Given the description of an element on the screen output the (x, y) to click on. 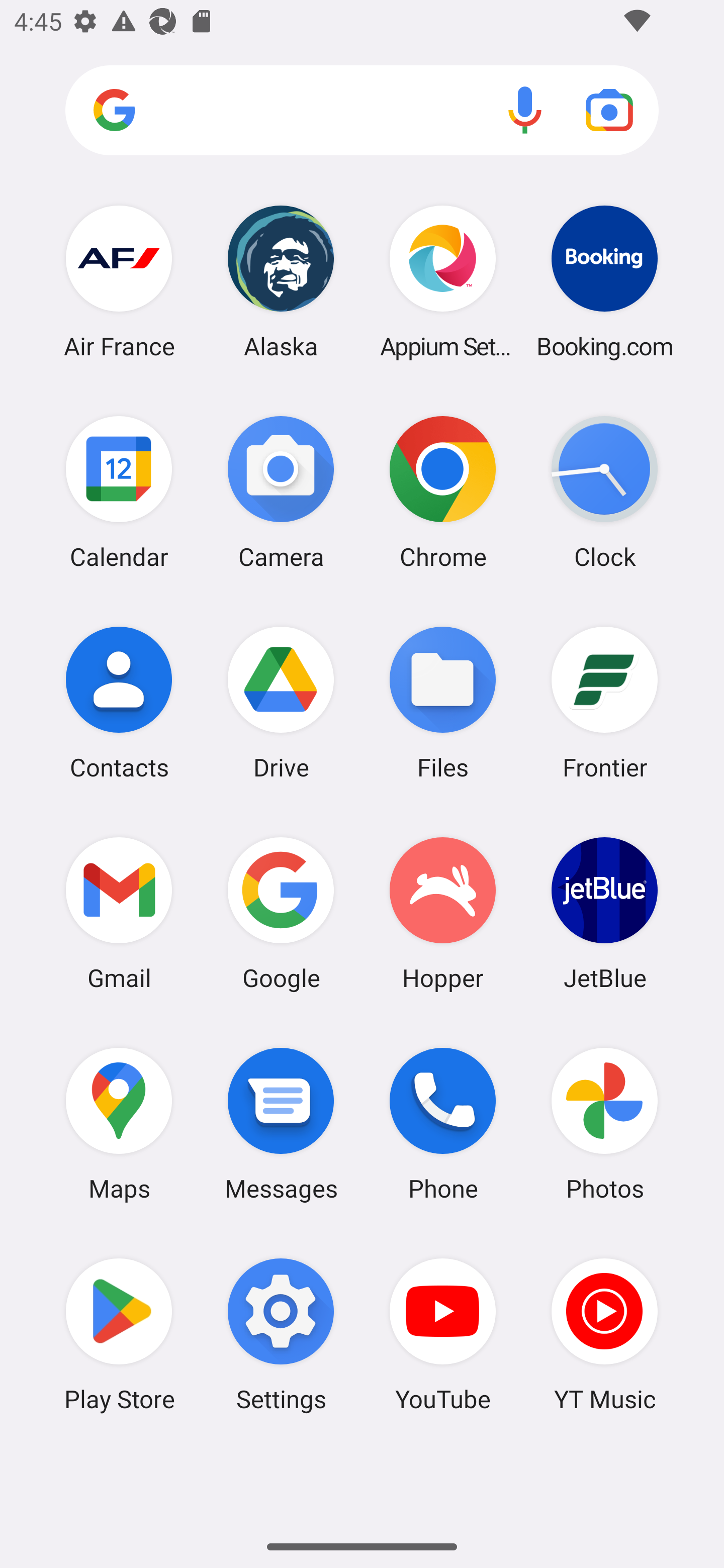
Voice search (524, 109)
Google Lens (608, 109)
Air France (118, 281)
Alaska (280, 281)
Appium Settings (443, 281)
Booking.com (604, 281)
Calendar (118, 492)
Camera (280, 492)
Chrome (443, 492)
Clock (604, 492)
Contacts (118, 702)
Drive (280, 702)
Files (443, 702)
Frontier (604, 702)
Gmail (118, 913)
Google (280, 913)
Hopper (443, 913)
JetBlue (604, 913)
Maps (118, 1124)
Messages (280, 1124)
Phone (443, 1124)
Photos (604, 1124)
Play Store (118, 1334)
Settings (280, 1334)
YouTube (443, 1334)
YT Music (604, 1334)
